Given the description of an element on the screen output the (x, y) to click on. 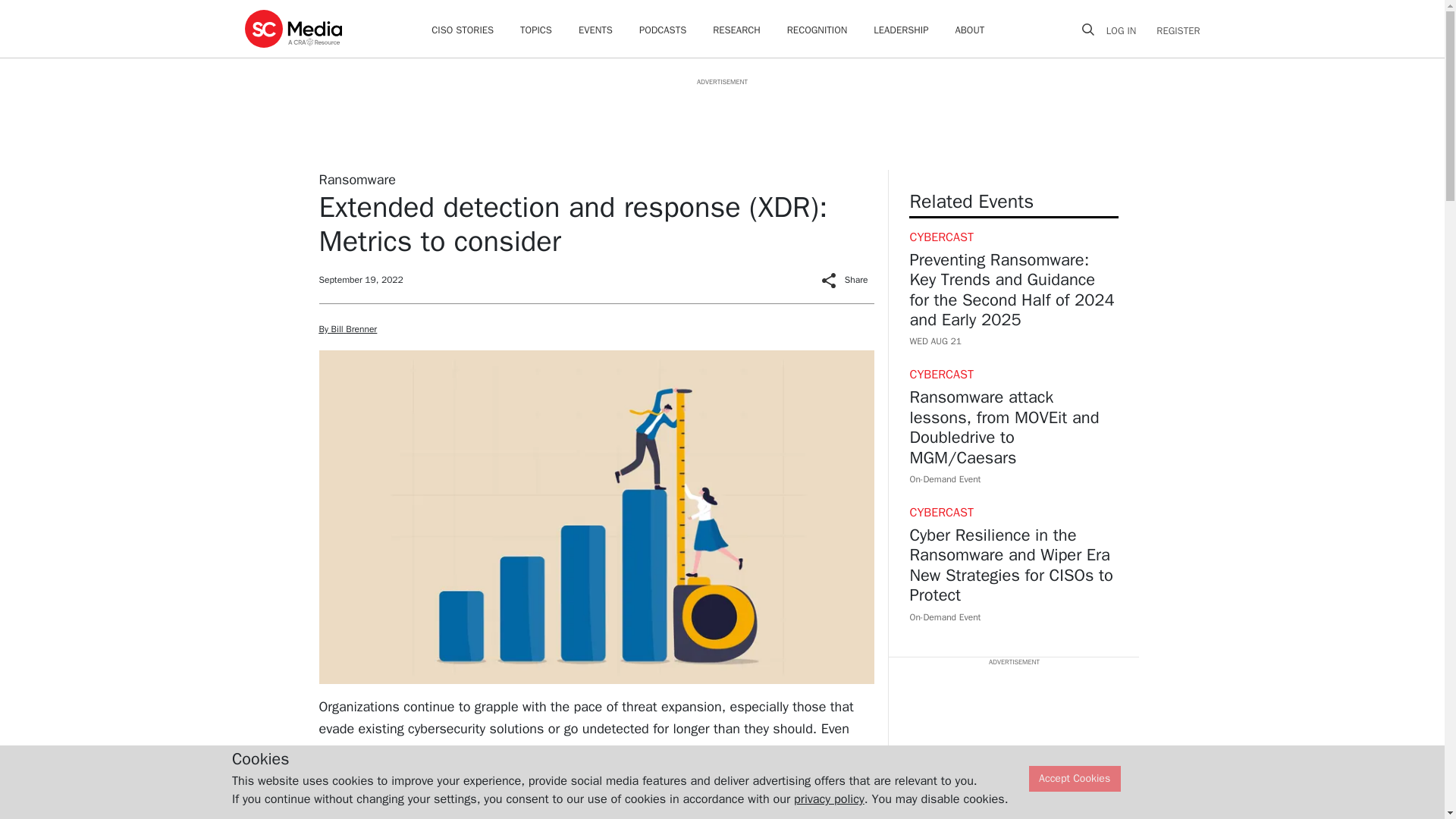
Ransomware (356, 179)
PODCASTS (662, 30)
EVENTS (595, 30)
CISO STORIES (461, 30)
3rd party ad content (1012, 743)
LOG IN (1126, 30)
SC Media (292, 27)
REGISTER (1173, 30)
TOPICS (535, 30)
LEADERSHIP (900, 30)
RECOGNITION (817, 30)
RESEARCH (736, 30)
3rd party ad content (721, 121)
